Given the description of an element on the screen output the (x, y) to click on. 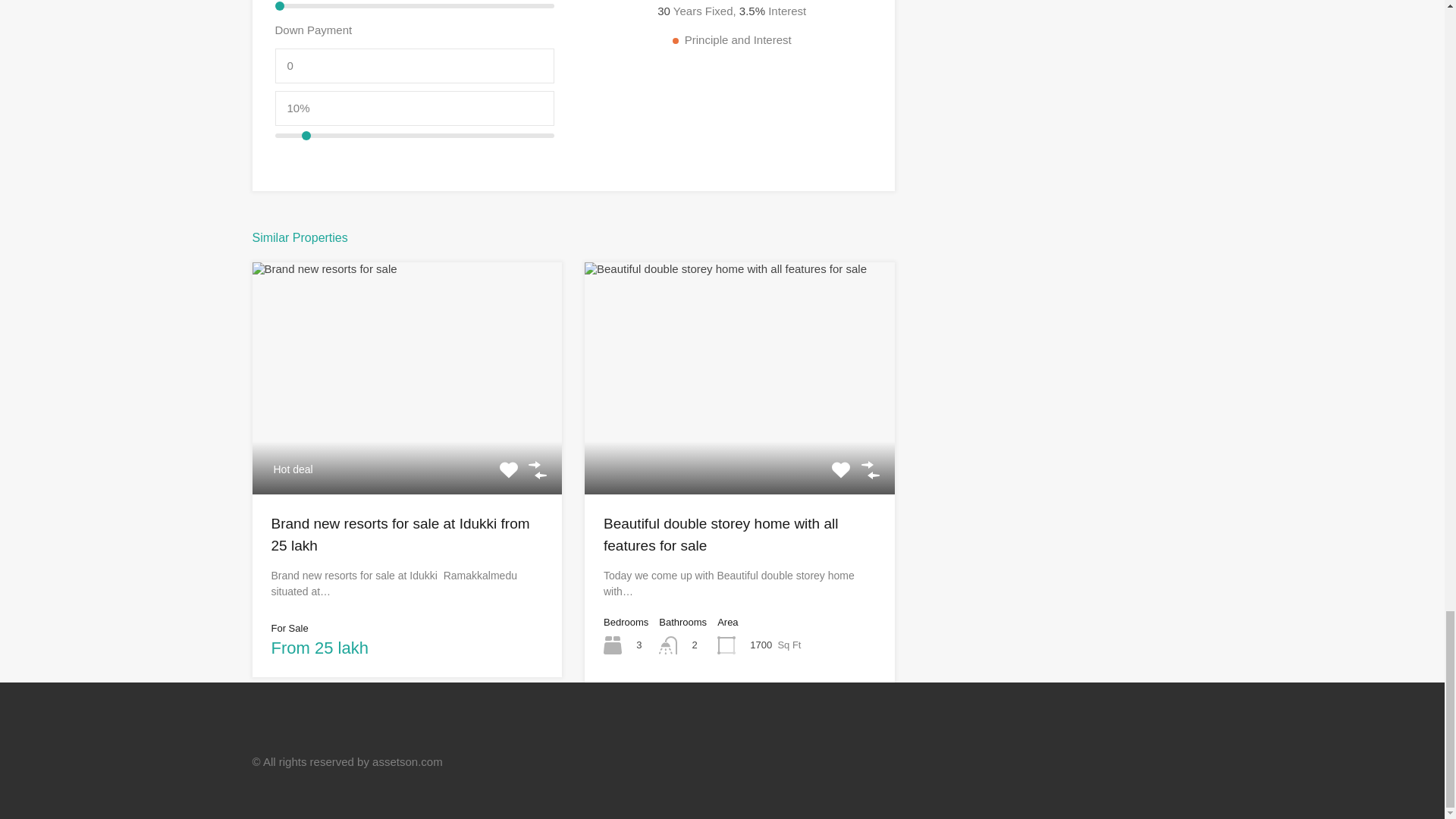
0 (414, 65)
10 (414, 135)
100000 (414, 6)
